Given the description of an element on the screen output the (x, y) to click on. 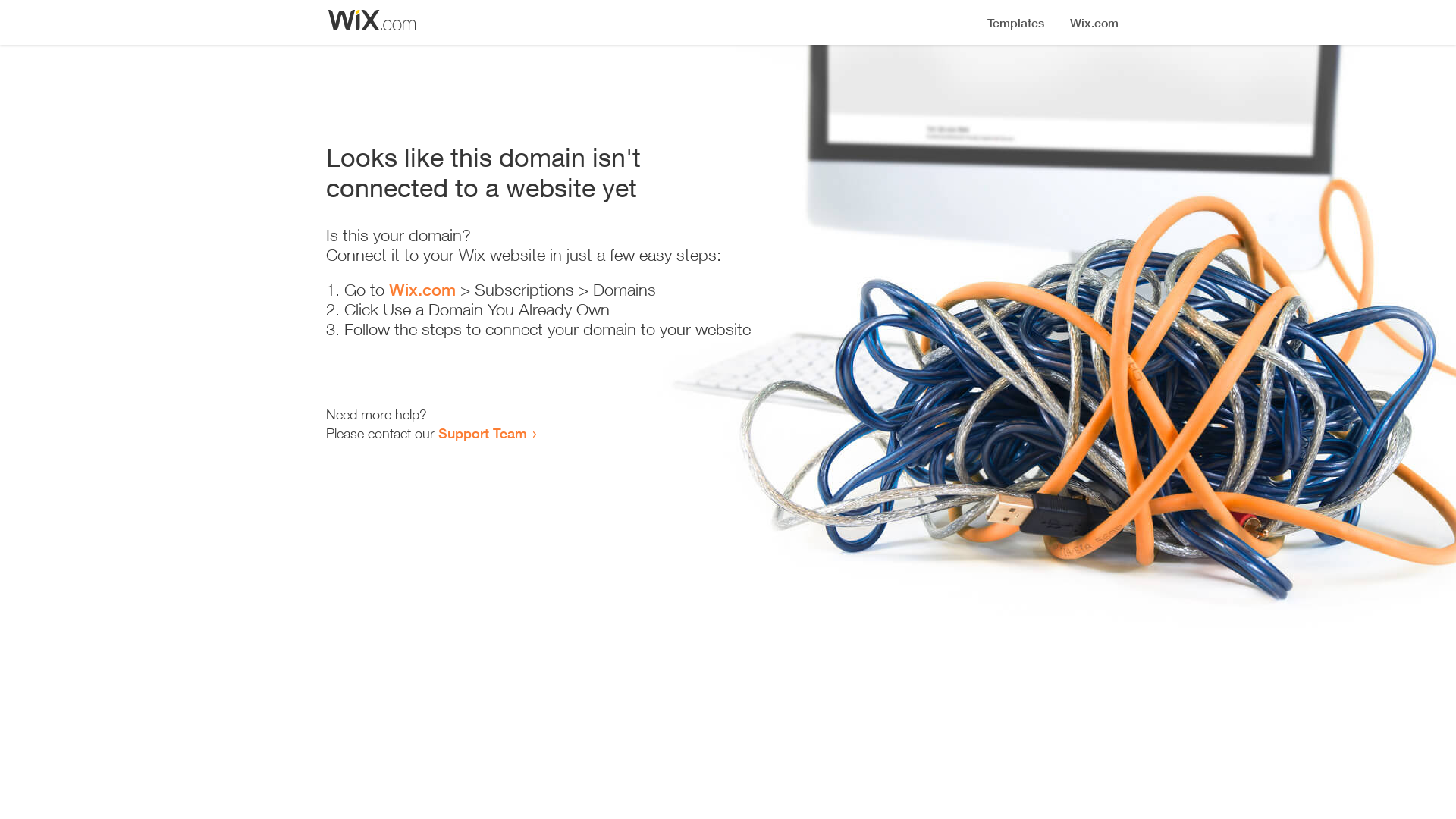
Wix.com Element type: text (422, 289)
Support Team Element type: text (482, 432)
